Given the description of an element on the screen output the (x, y) to click on. 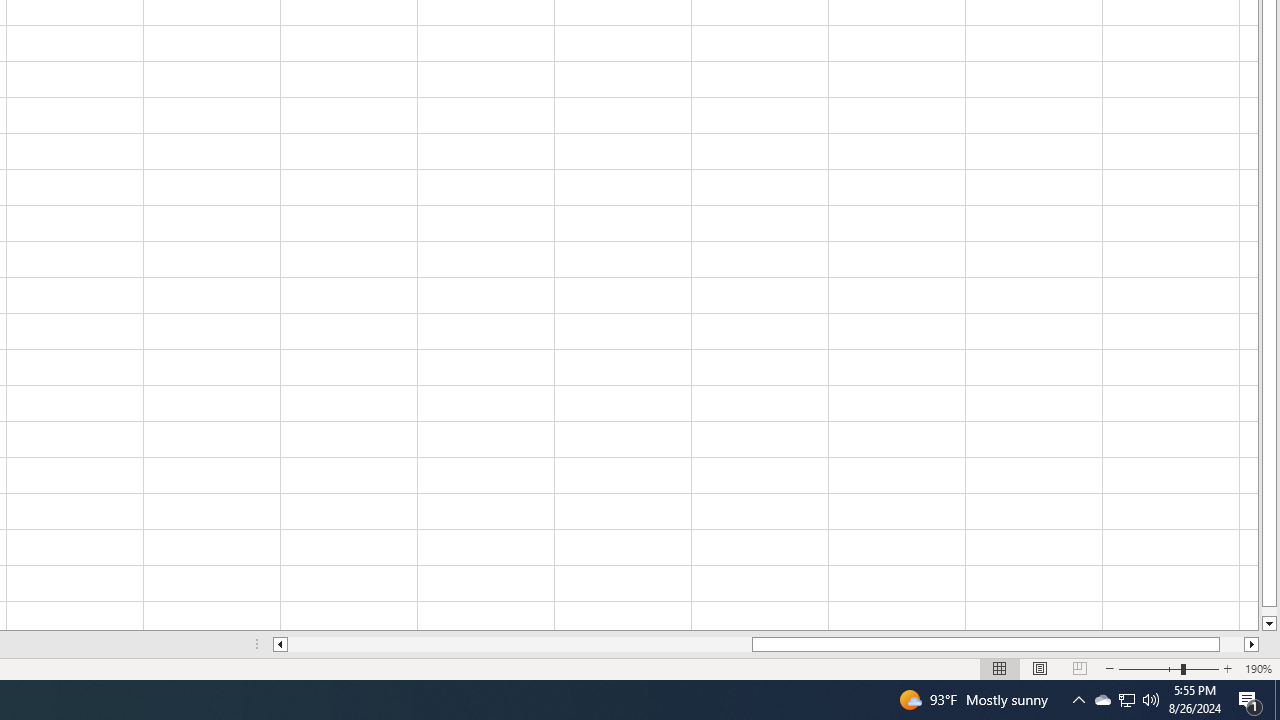
Page left (520, 644)
